Given the description of an element on the screen output the (x, y) to click on. 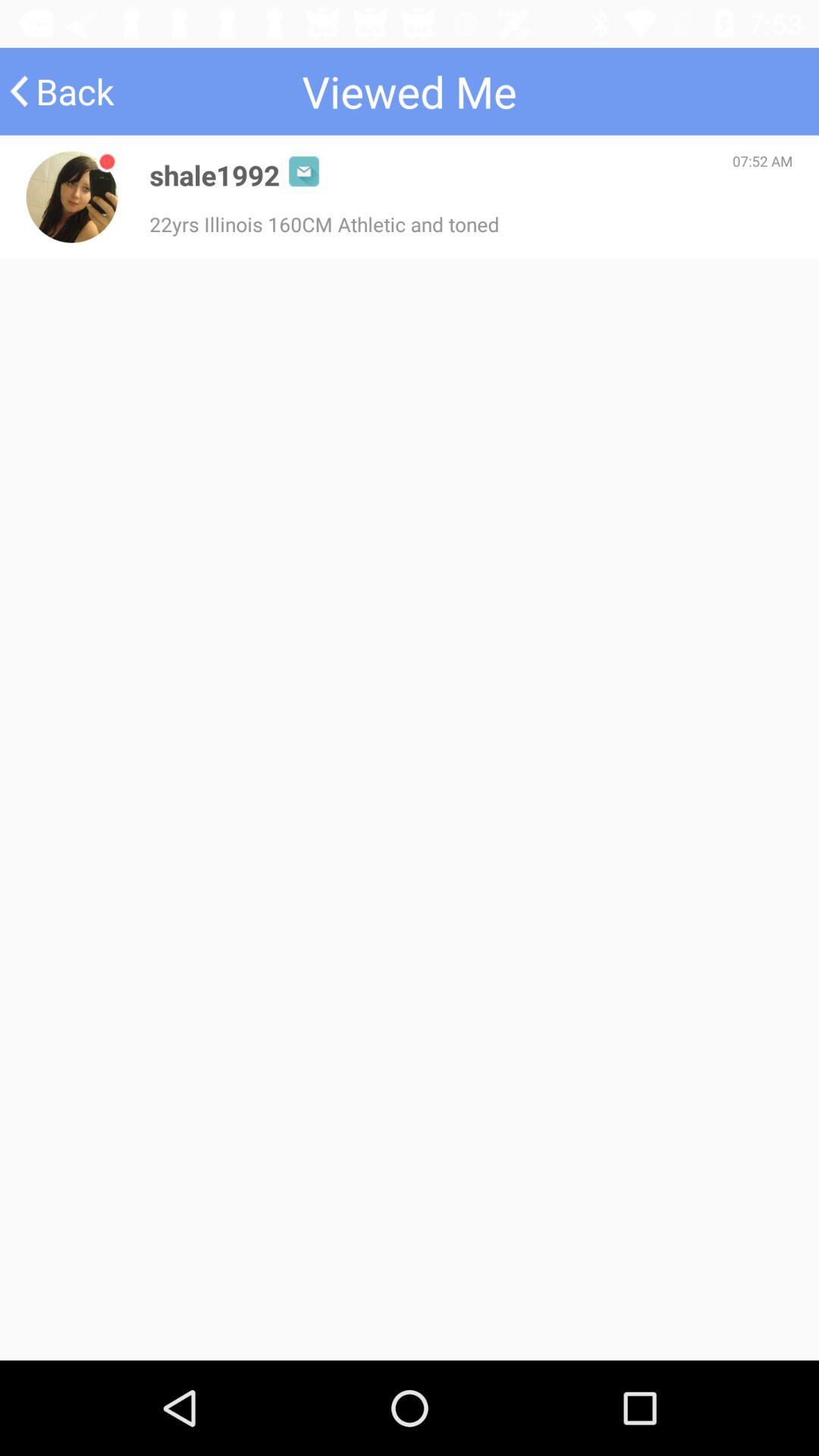
turn off 07:52 am item (762, 160)
